Given the description of an element on the screen output the (x, y) to click on. 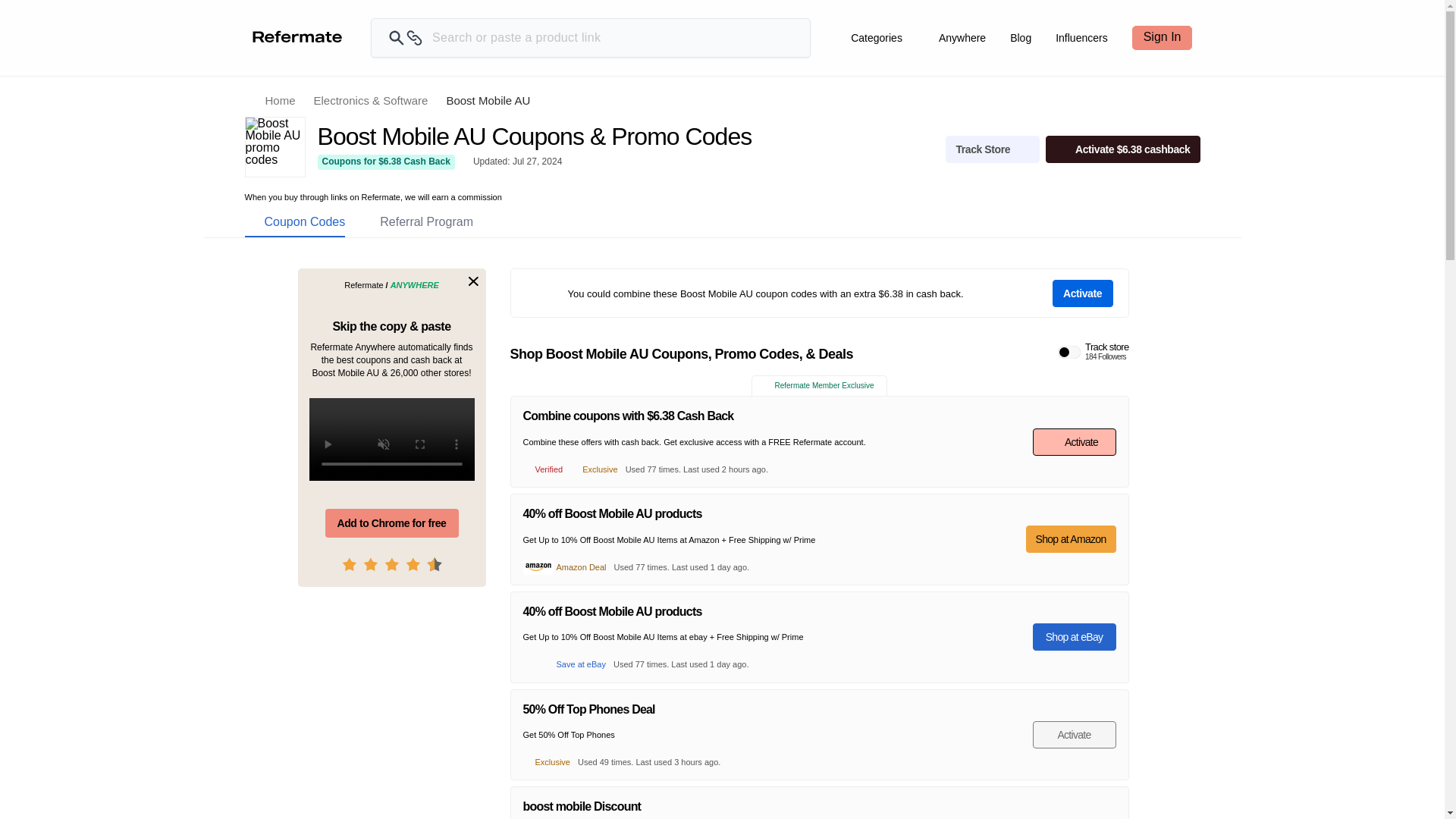
          Referral Program (416, 222)
Track Store (991, 148)
Activate (1082, 293)
Blog (1020, 37)
Shop at Amazon (1071, 538)
Sign In (1162, 37)
Shop at eBay (1074, 636)
Refermate Anywhere (1093, 351)
Categories (961, 37)
Anywhere (876, 37)
Home (961, 37)
        Coupon Codes (269, 100)
Activate (294, 222)
Refermate (1074, 734)
